Given the description of an element on the screen output the (x, y) to click on. 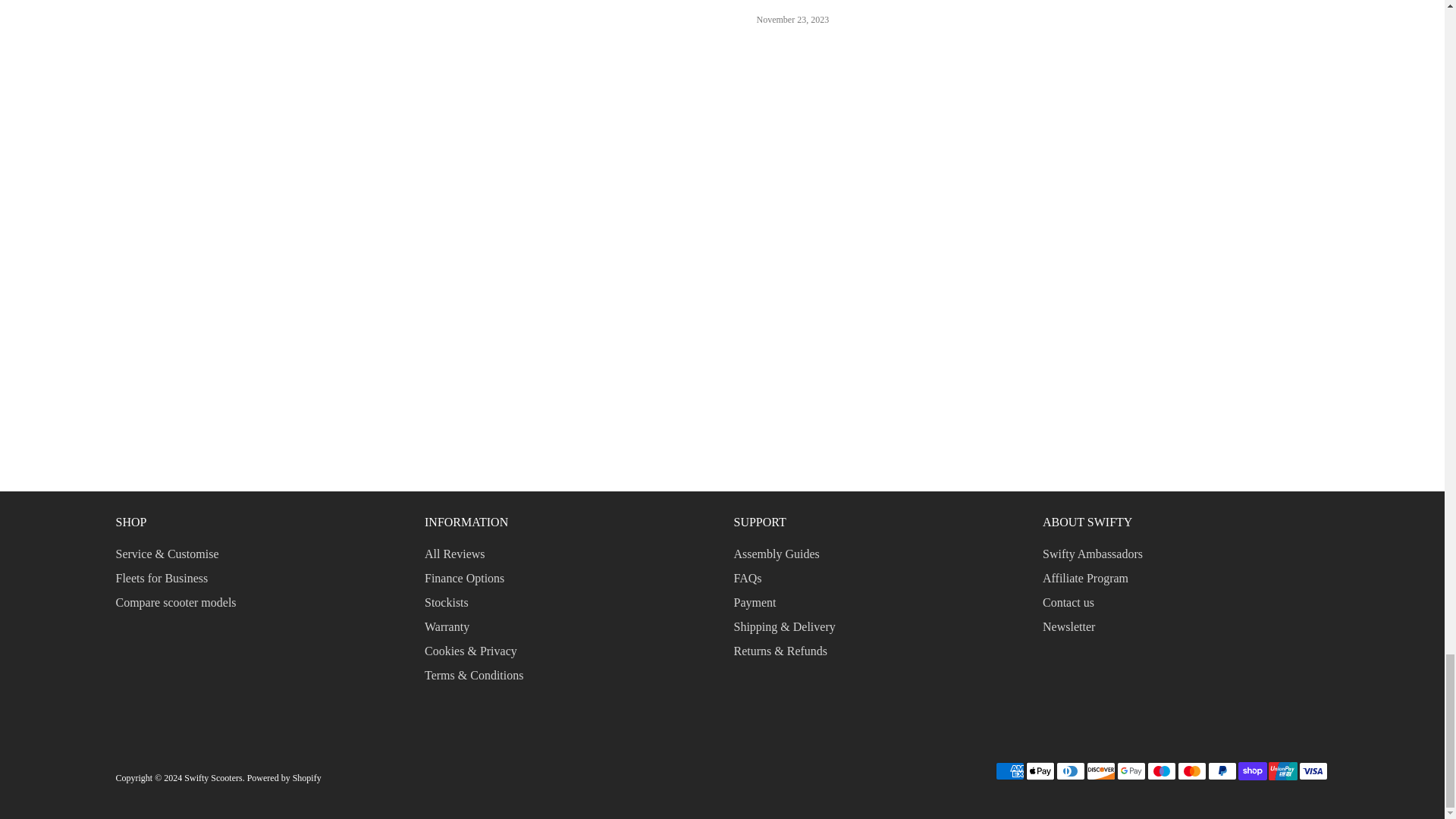
Apple Pay (1039, 771)
Diners Club (1069, 771)
PayPal (1221, 771)
Mastercard (1190, 771)
Shop Pay (1251, 771)
Discover (1100, 771)
Maestro (1160, 771)
American Express (1008, 771)
Union Pay (1282, 771)
Visa (1312, 771)
